Given the description of an element on the screen output the (x, y) to click on. 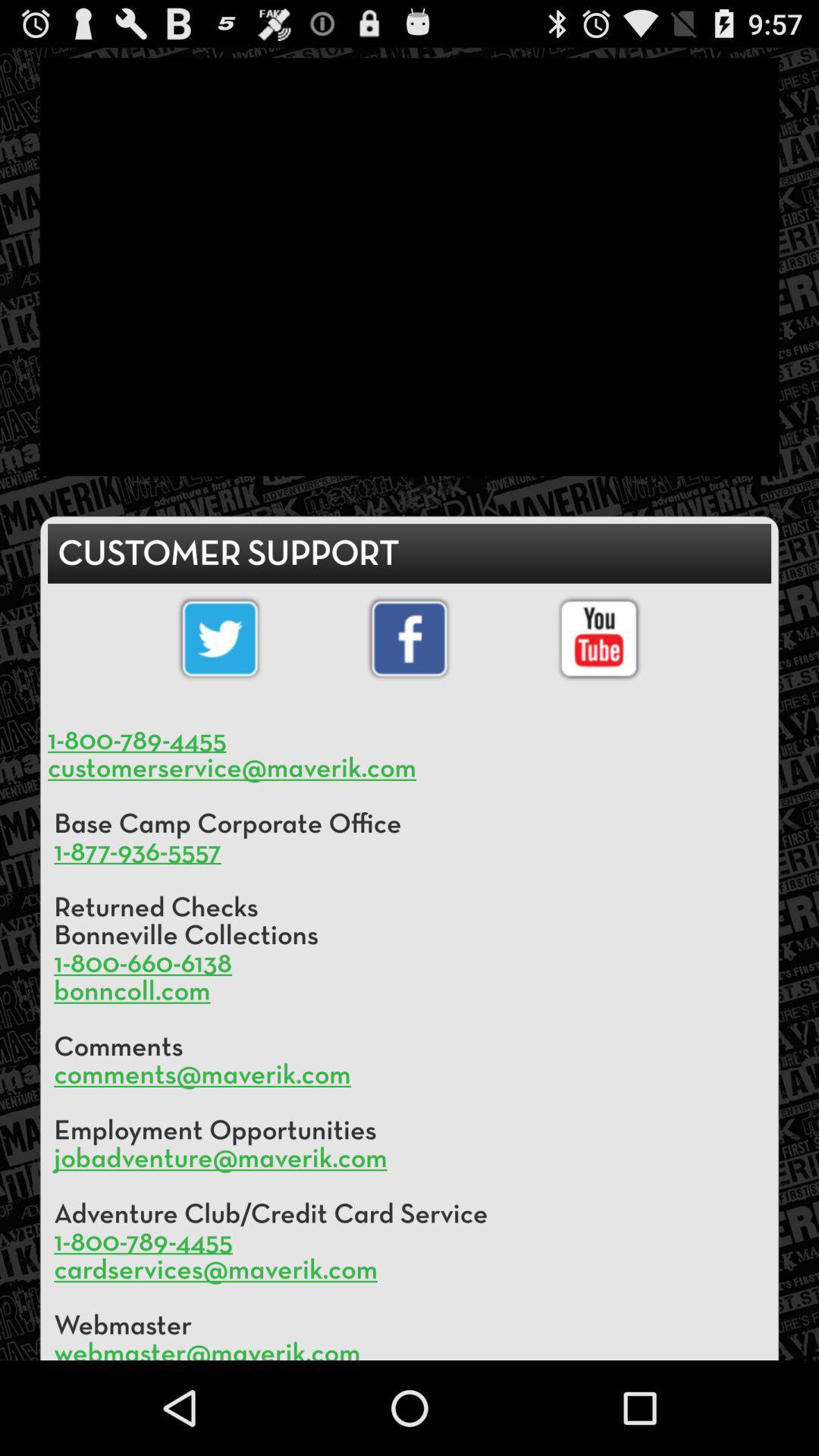
go to facebook account (409, 638)
